Given the description of an element on the screen output the (x, y) to click on. 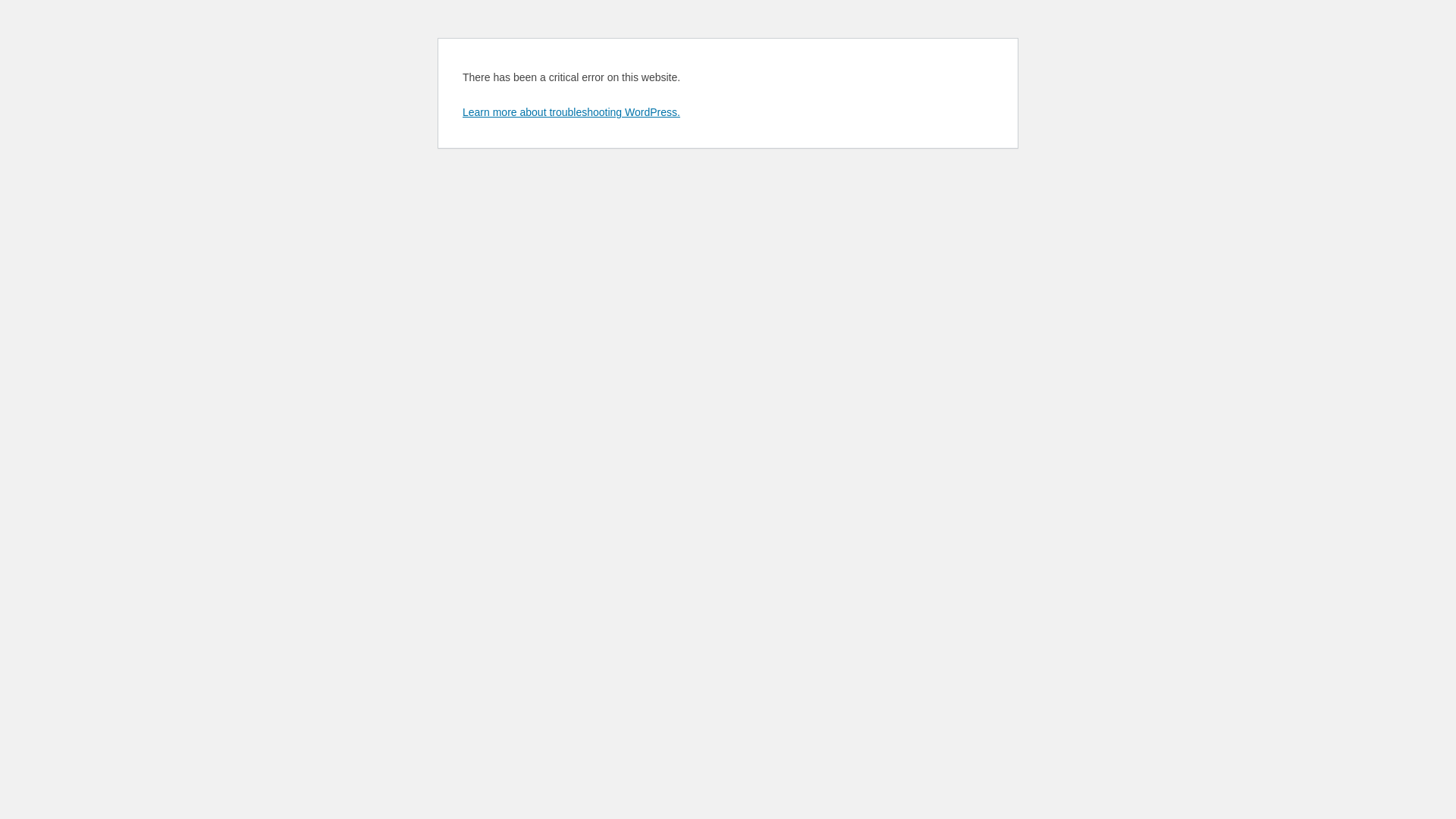
Learn more about troubleshooting WordPress. Element type: text (571, 112)
